Given the description of an element on the screen output the (x, y) to click on. 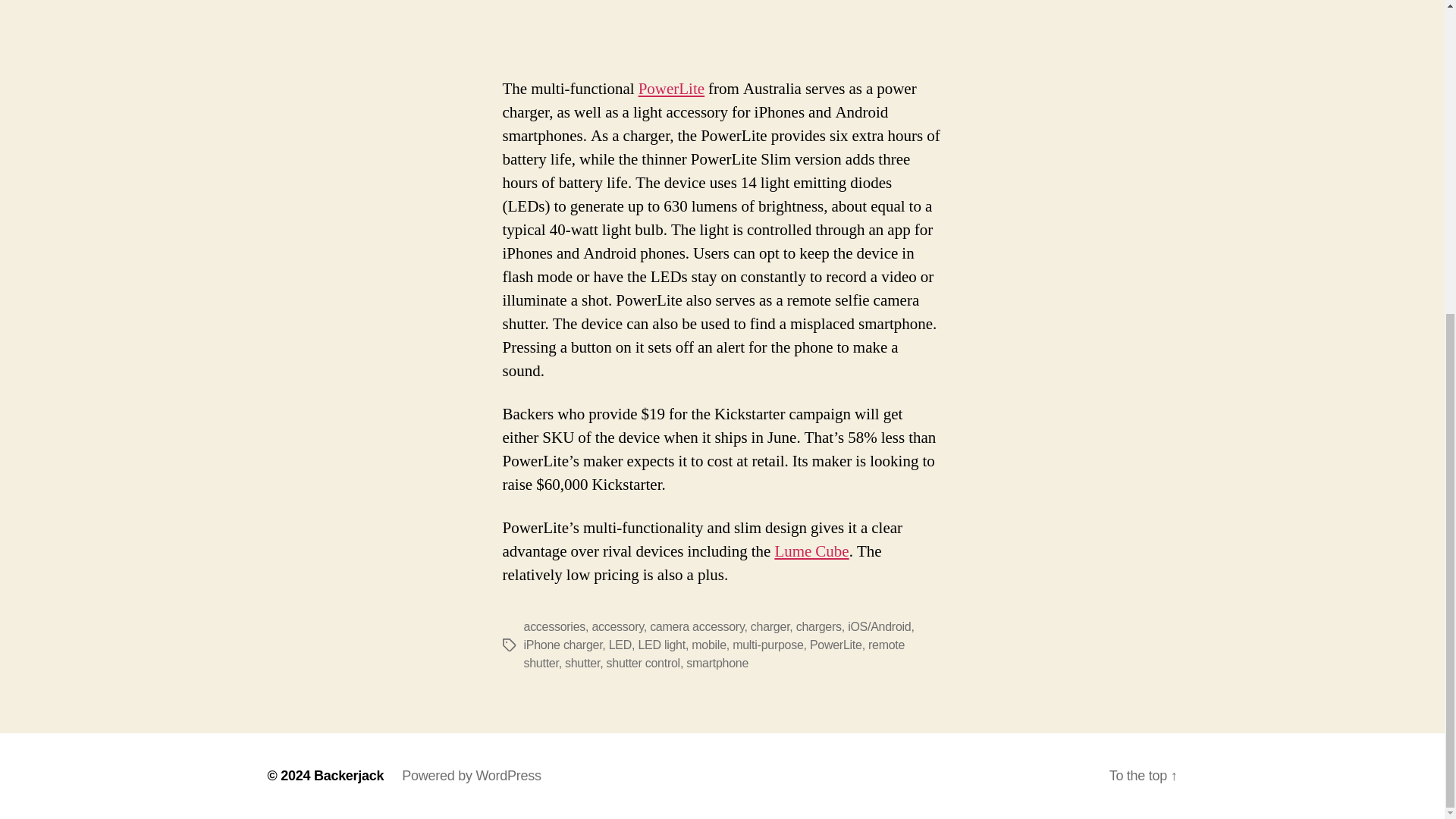
iPhone charger (562, 644)
accessories (553, 626)
LED (619, 644)
PowerLite (835, 644)
charger (770, 626)
remote shutter (713, 653)
multi-purpose (767, 644)
LED light (661, 644)
shutter (581, 662)
camera accessory (696, 626)
chargers (818, 626)
shutter control (643, 662)
PowerLite (671, 88)
accessory (617, 626)
Lume Cube (811, 551)
